Given the description of an element on the screen output the (x, y) to click on. 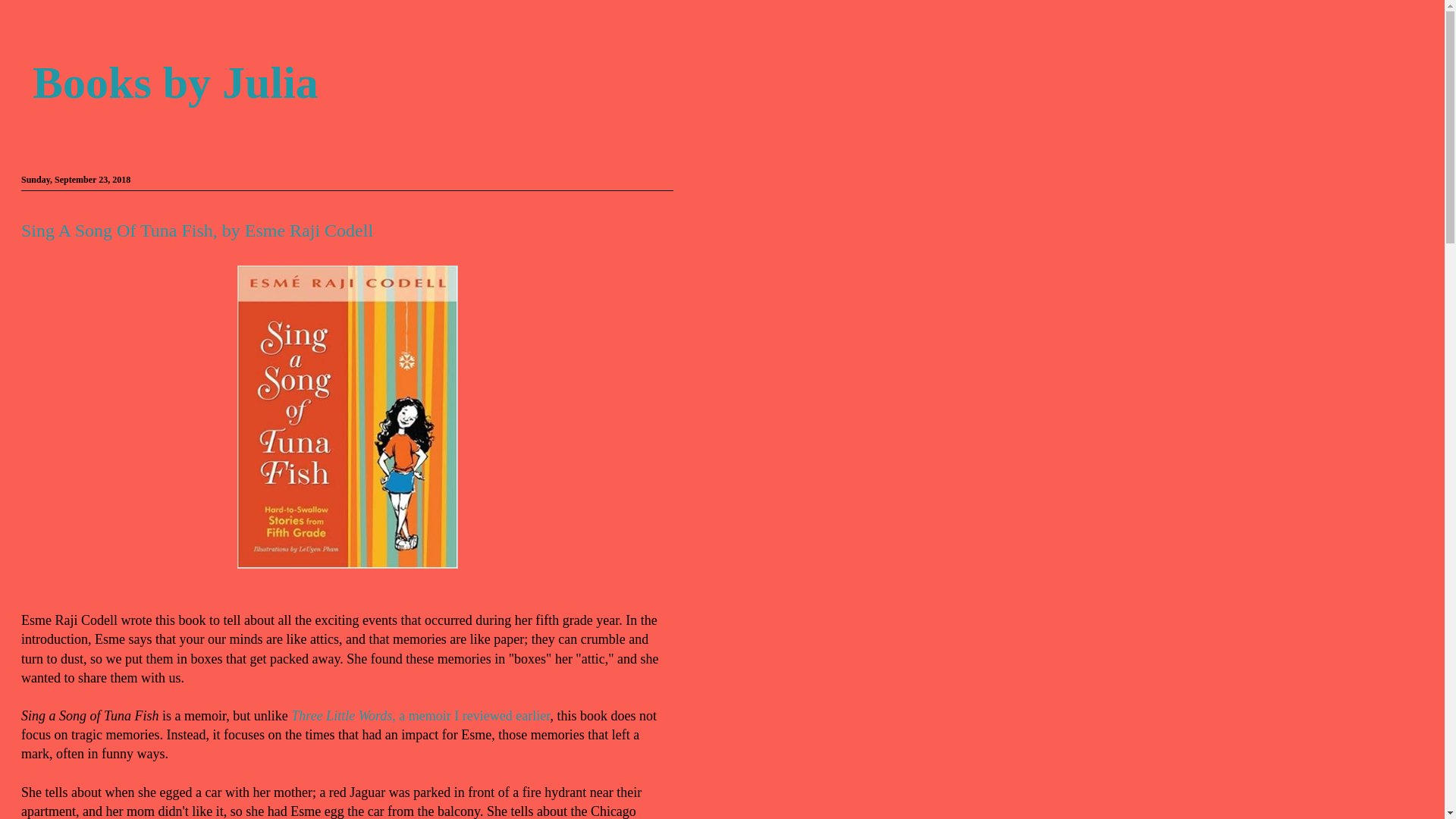
Books by Julia (175, 82)
Three Little Words (341, 715)
, a memoir I reviewed earlier (470, 715)
